Given the description of an element on the screen output the (x, y) to click on. 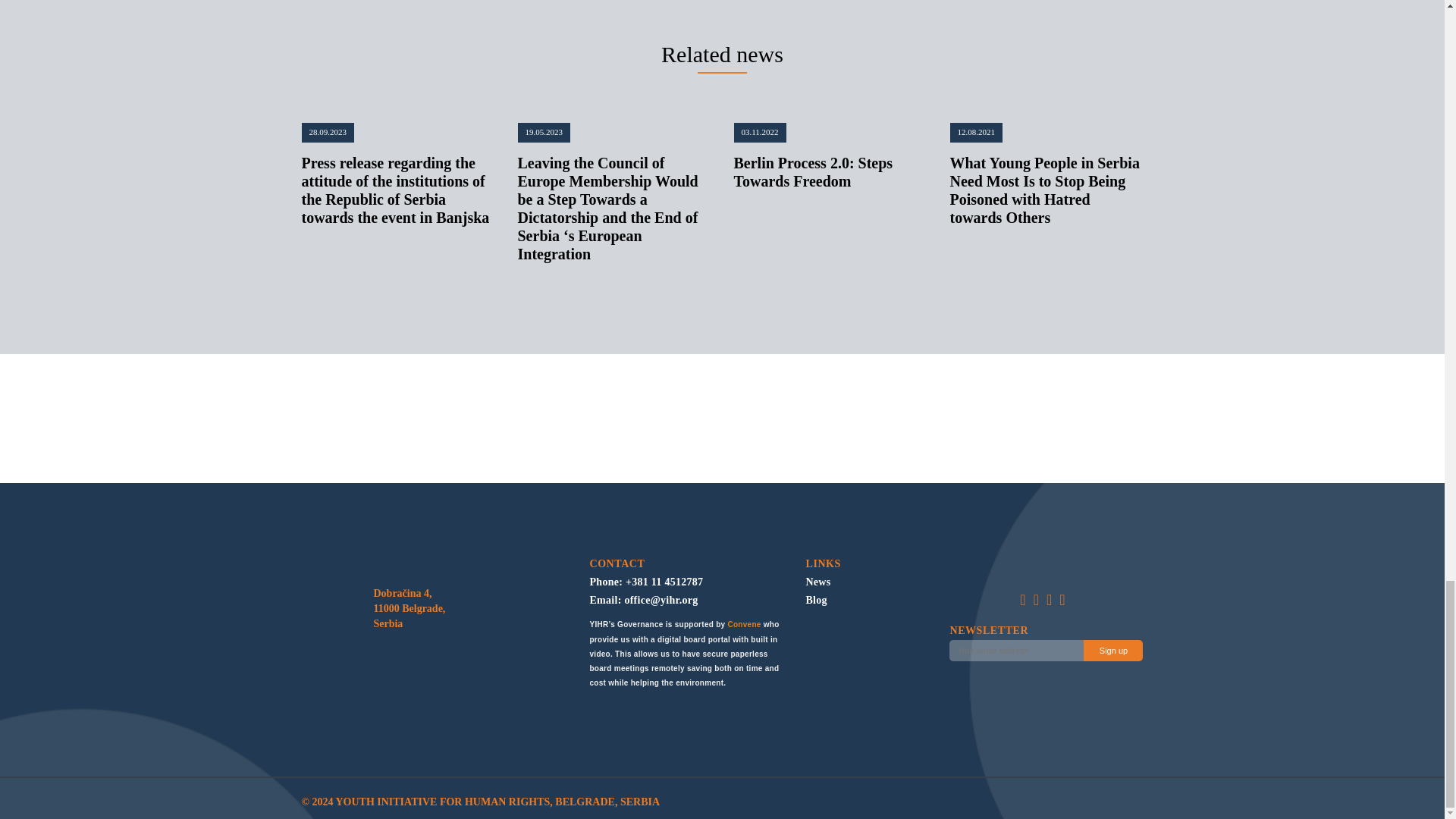
Sign up (1112, 649)
